Given the description of an element on the screen output the (x, y) to click on. 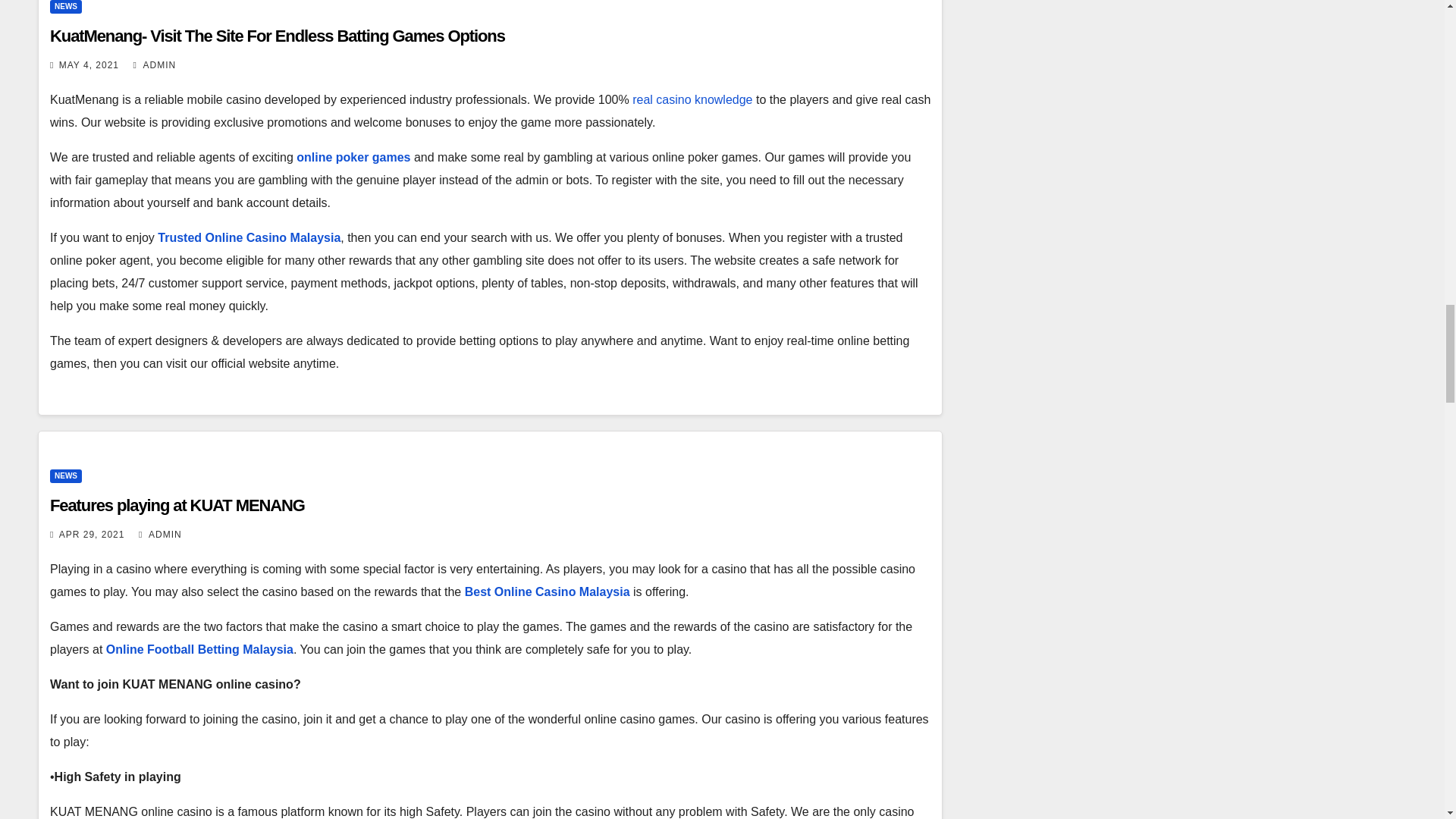
online poker games (353, 156)
real casino knowledge (691, 99)
ADMIN (160, 534)
KuatMenang- Visit The Site For Endless Batting Games Options (277, 35)
MAY 4, 2021 (89, 64)
Trusted Online Casino Malaysia (248, 237)
Online Football Betting Malaysia (200, 649)
NEWS (65, 476)
Best Online Casino Malaysia (547, 591)
Features playing at KUAT MENANG (176, 505)
NEWS (65, 6)
APR 29, 2021 (92, 534)
ADMIN (154, 64)
